Given the description of an element on the screen output the (x, y) to click on. 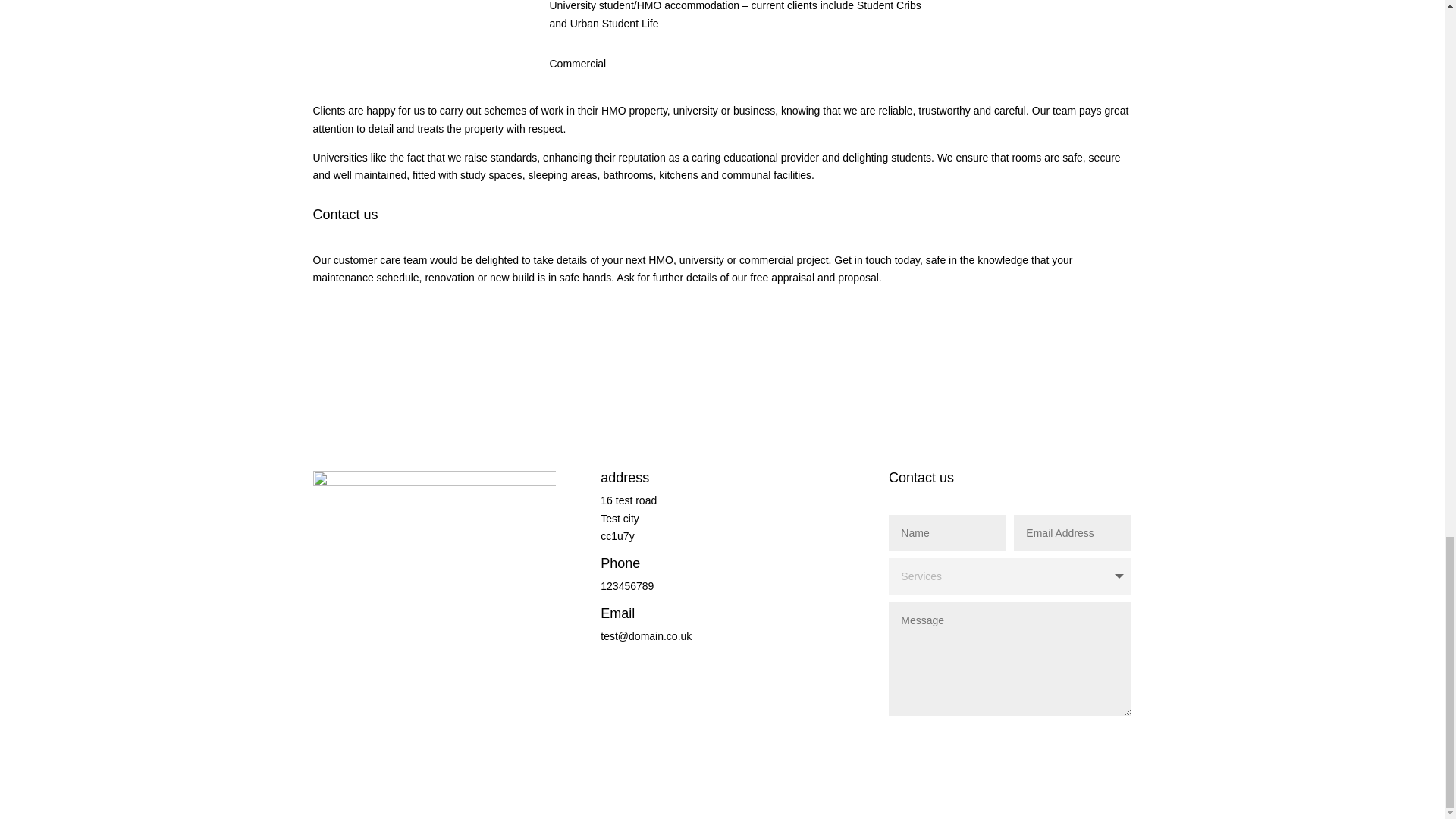
Get in Touch (371, 329)
Submit (1091, 738)
Follow on Instagram (384, 627)
Follow on Facebook (324, 627)
Follow on X (354, 627)
